Given the description of an element on the screen output the (x, y) to click on. 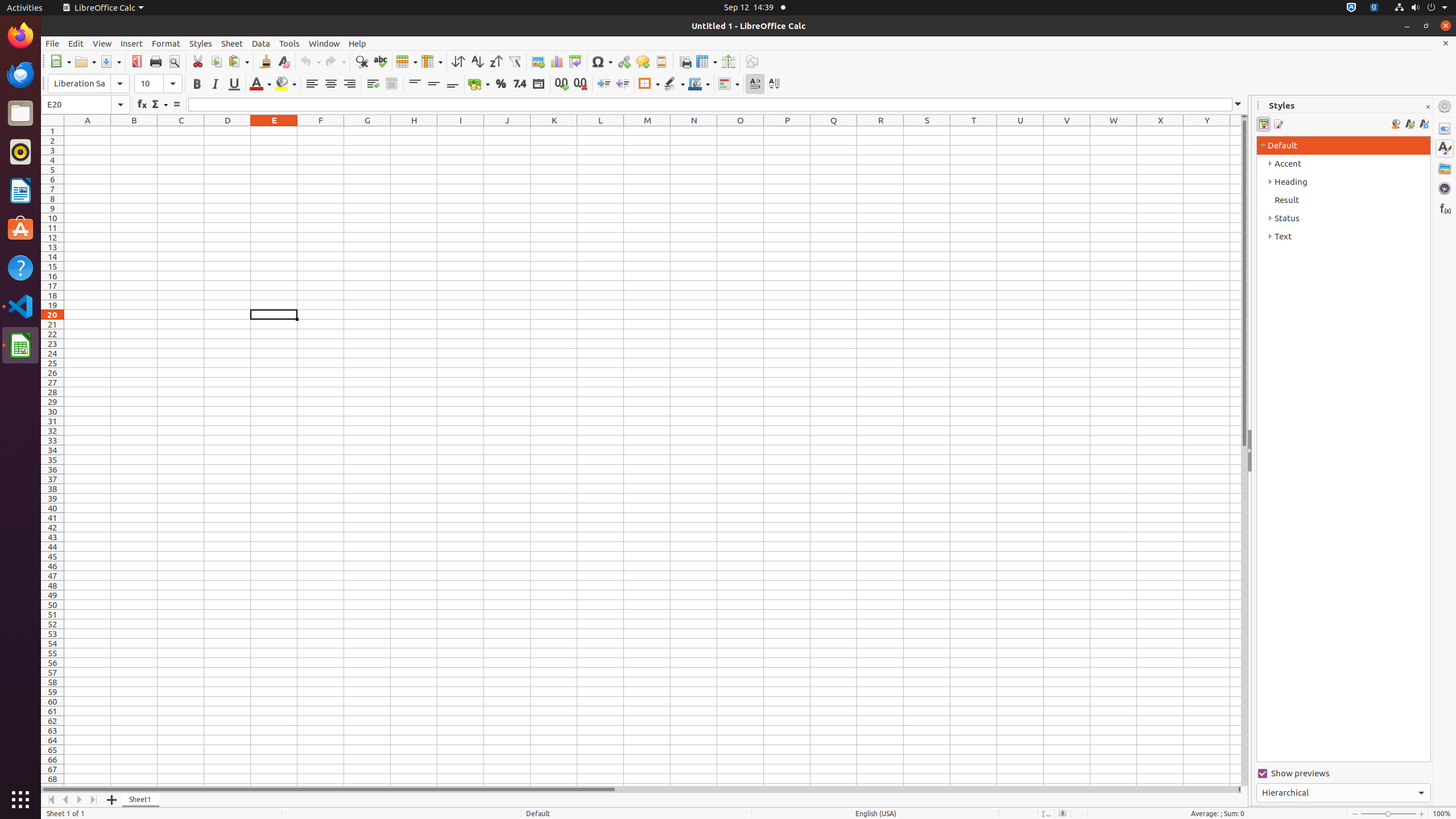
Files Element type: push-button (20, 113)
Align Left Element type: push-button (311, 83)
V1 Element type: table-cell (1066, 130)
Pivot Table Element type: push-button (574, 61)
Wrap Text Element type: push-button (372, 83)
